Given the description of an element on the screen output the (x, y) to click on. 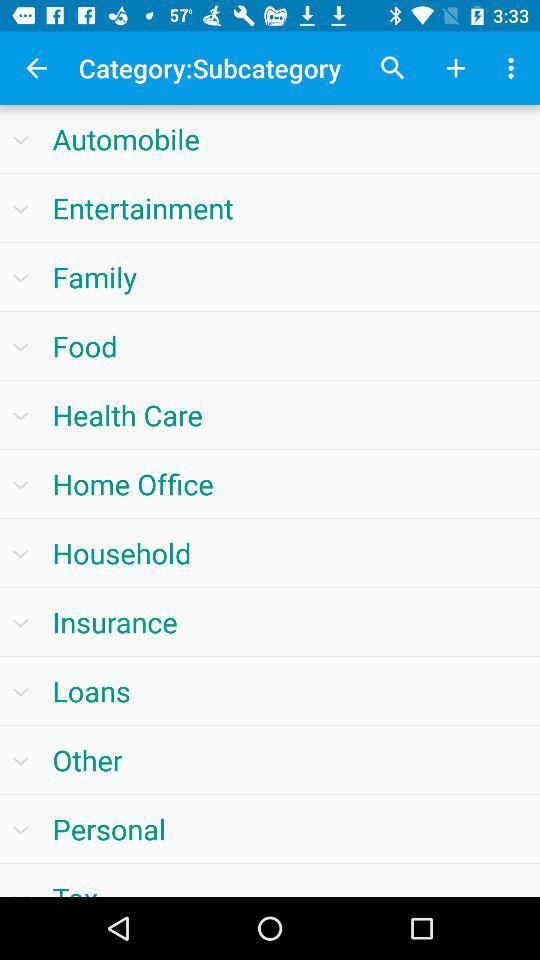
tap the icon at the top left corner (36, 68)
